Given the description of an element on the screen output the (x, y) to click on. 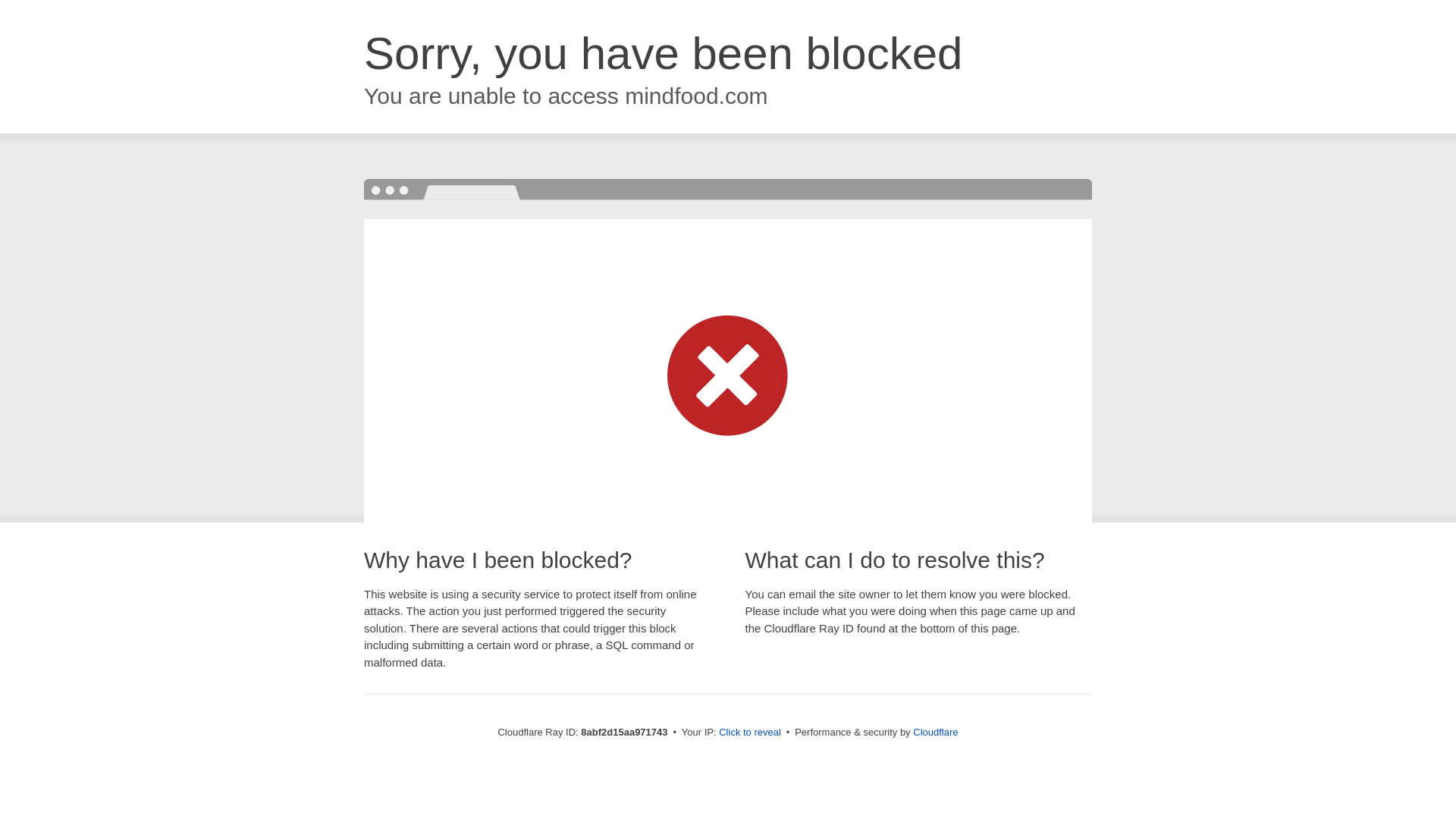
Cloudflare (935, 731)
Click to reveal (749, 732)
